Given the description of an element on the screen output the (x, y) to click on. 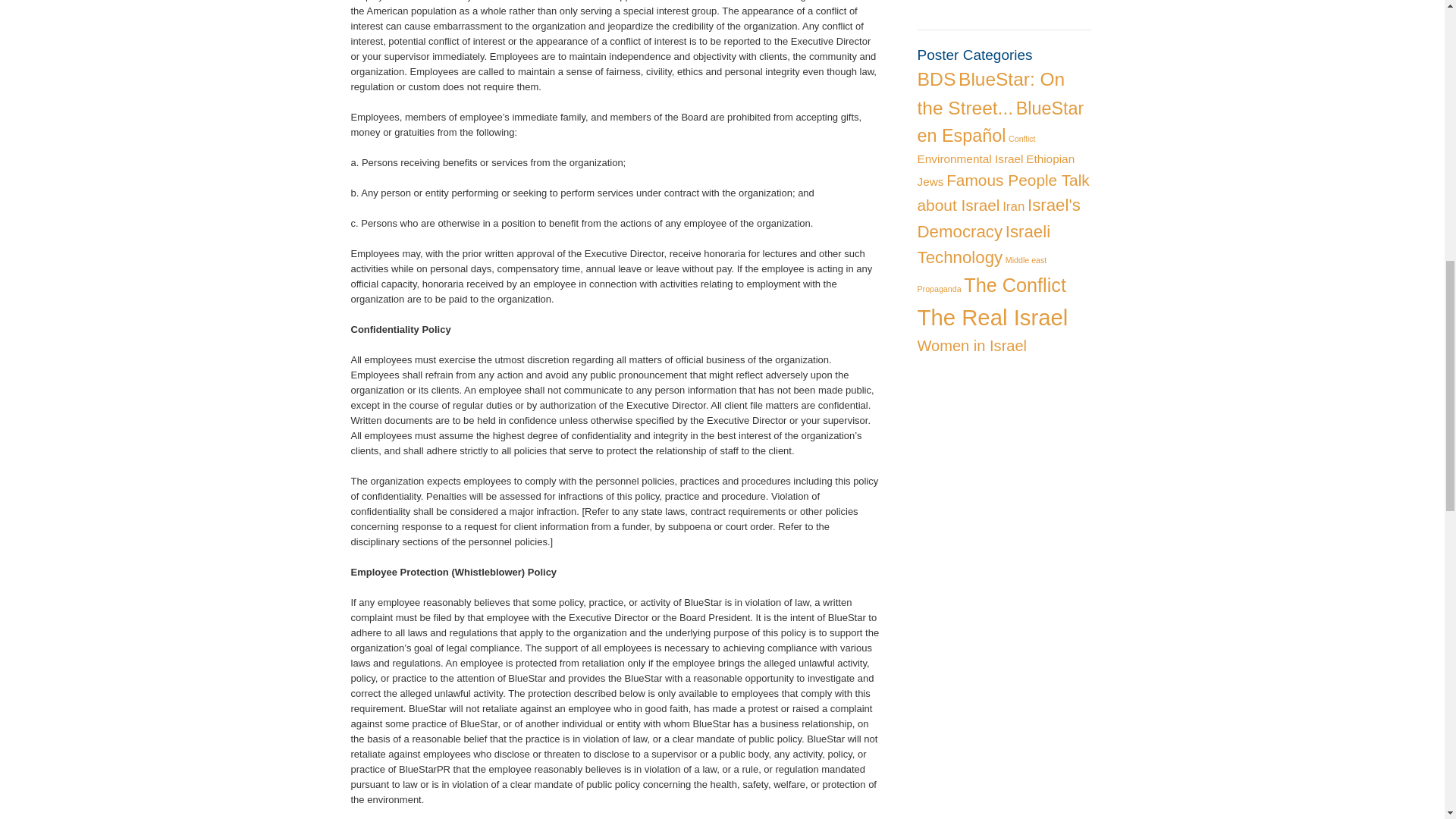
BlueStar: On the Street... (991, 92)
View All (937, 0)
Ethiopian Jews (996, 170)
Conflict (1022, 138)
Environmental Israel (970, 158)
BDS (936, 78)
